Given the description of an element on the screen output the (x, y) to click on. 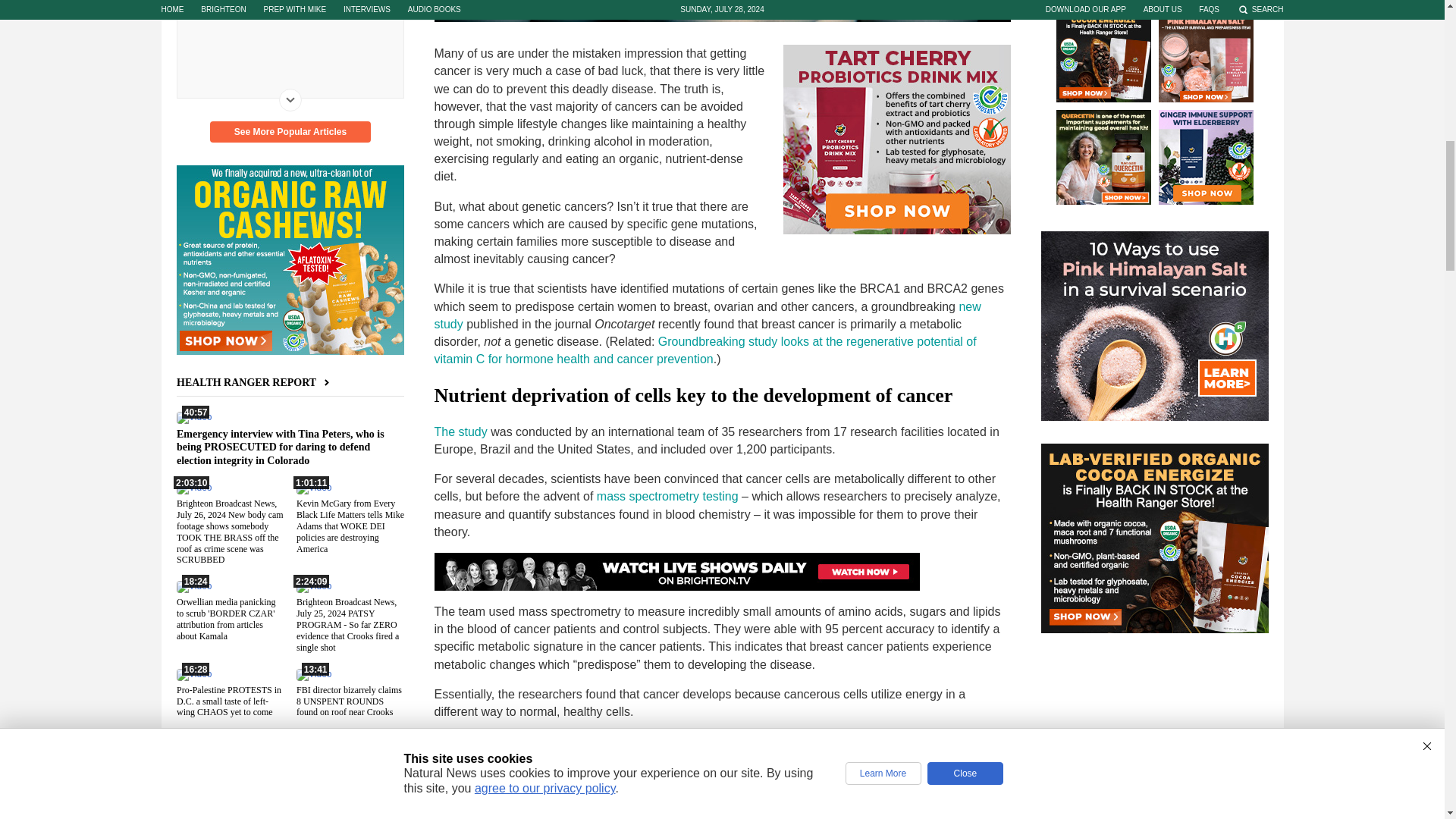
1:01:11 (312, 487)
HEALTH RANGER REPORT (254, 382)
See More Popular Articles (289, 131)
40:57 (193, 416)
Scroll Down (290, 99)
2:03:10 (193, 487)
